Given the description of an element on the screen output the (x, y) to click on. 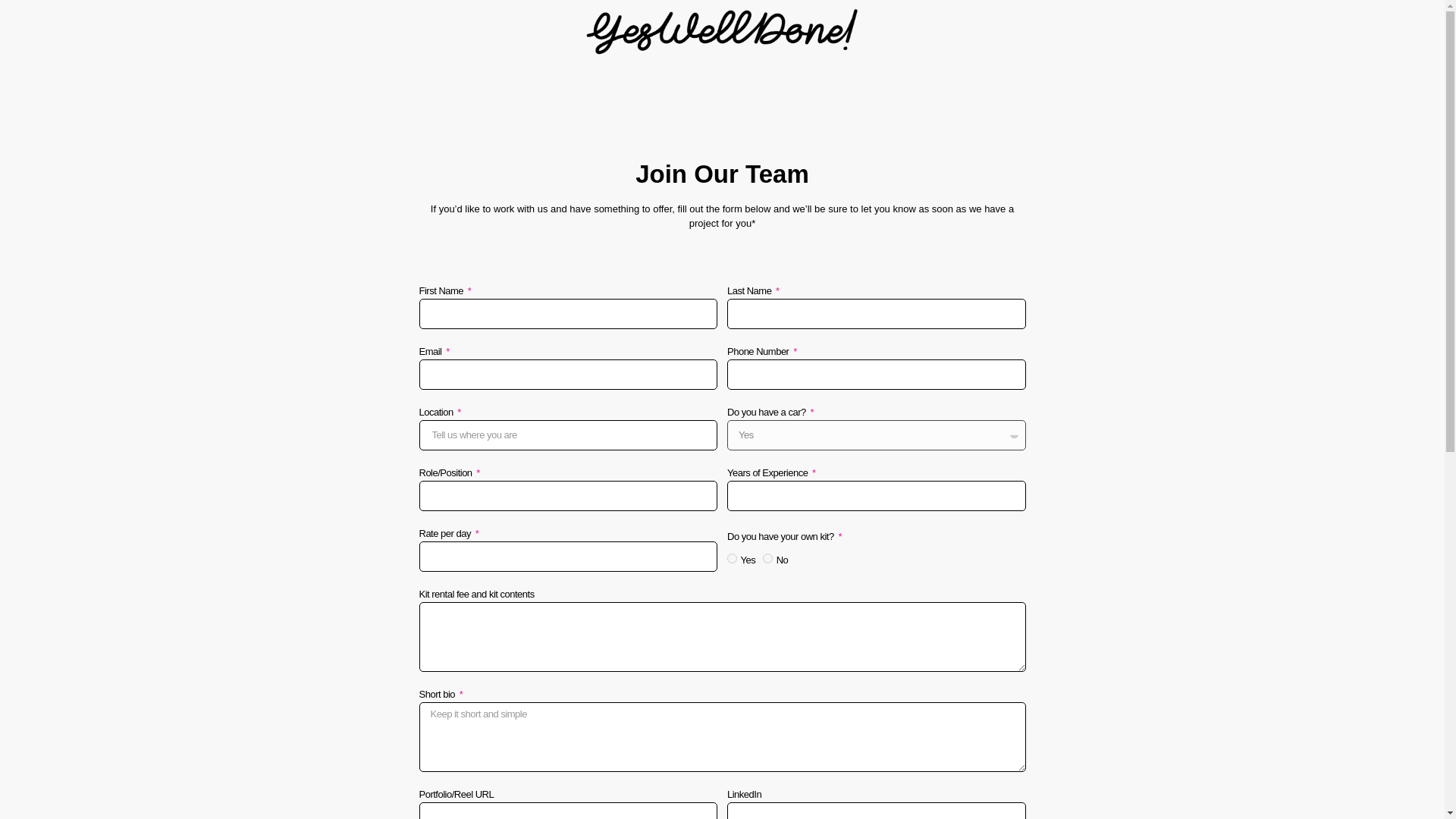
Yes (731, 558)
No (767, 558)
